Given the description of an element on the screen output the (x, y) to click on. 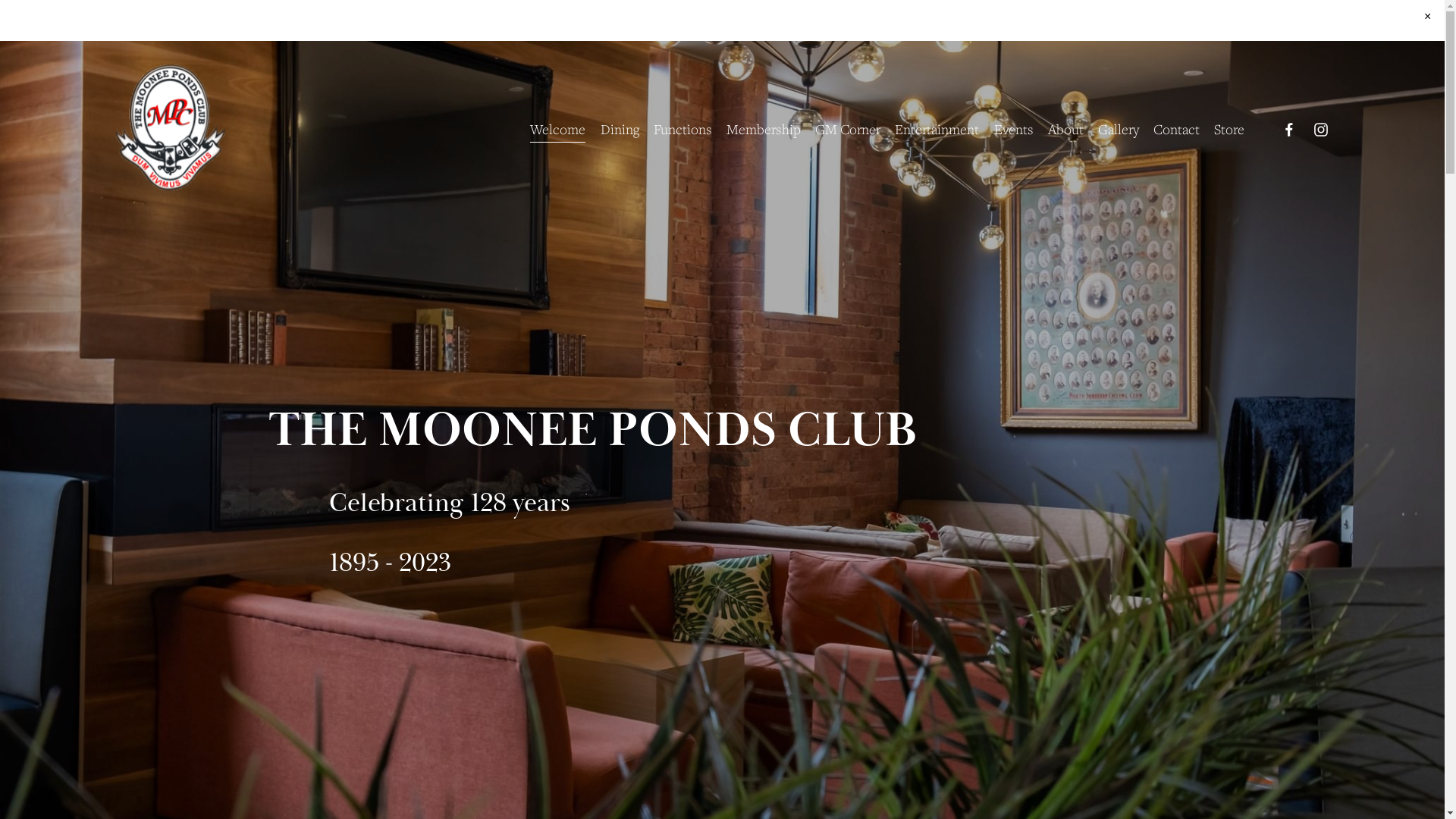
Events Element type: text (1013, 129)
Contact Element type: text (1176, 129)
Dining Element type: text (619, 129)
Welcome Element type: text (557, 129)
Functions Element type: text (682, 129)
Membership Element type: text (763, 129)
Gallery Element type: text (1118, 129)
GM Corner Element type: text (847, 129)
Entertainment Element type: text (936, 129)
About Element type: text (1065, 129)
Store Element type: text (1229, 129)
